Given the description of an element on the screen output the (x, y) to click on. 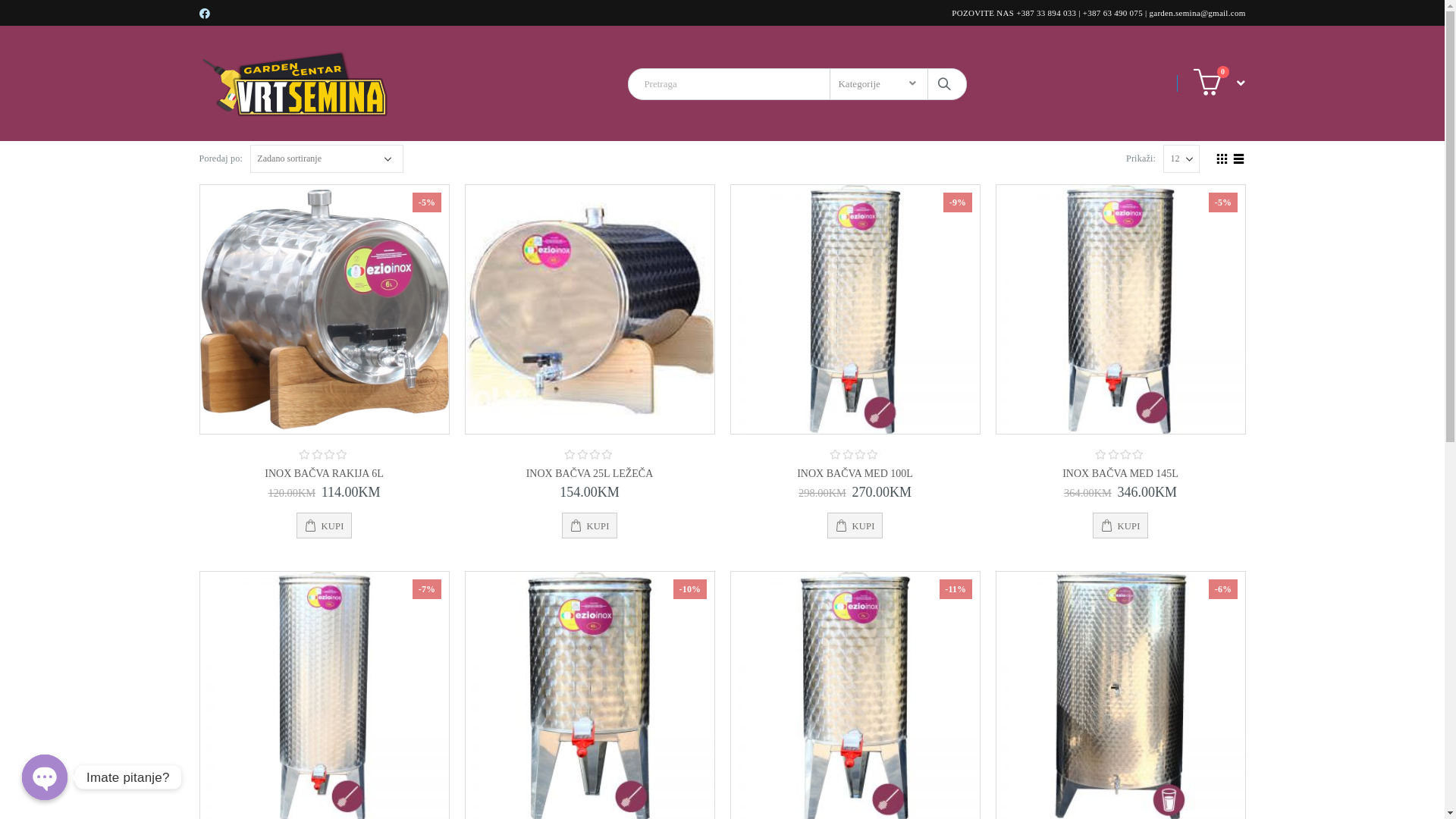
Facebook Element type: hover (204, 13)
Semina - Garden Centar Semina Element type: hover (293, 83)
List View Element type: hover (1238, 156)
KUPI Element type: text (588, 525)
-5% Element type: text (1120, 309)
KUPI Element type: text (323, 525)
KUPI Element type: text (1119, 525)
Grid View Element type: hover (1221, 156)
-9% Element type: text (855, 309)
KUPI Element type: text (854, 525)
-5% Element type: text (324, 309)
